Given the description of an element on the screen output the (x, y) to click on. 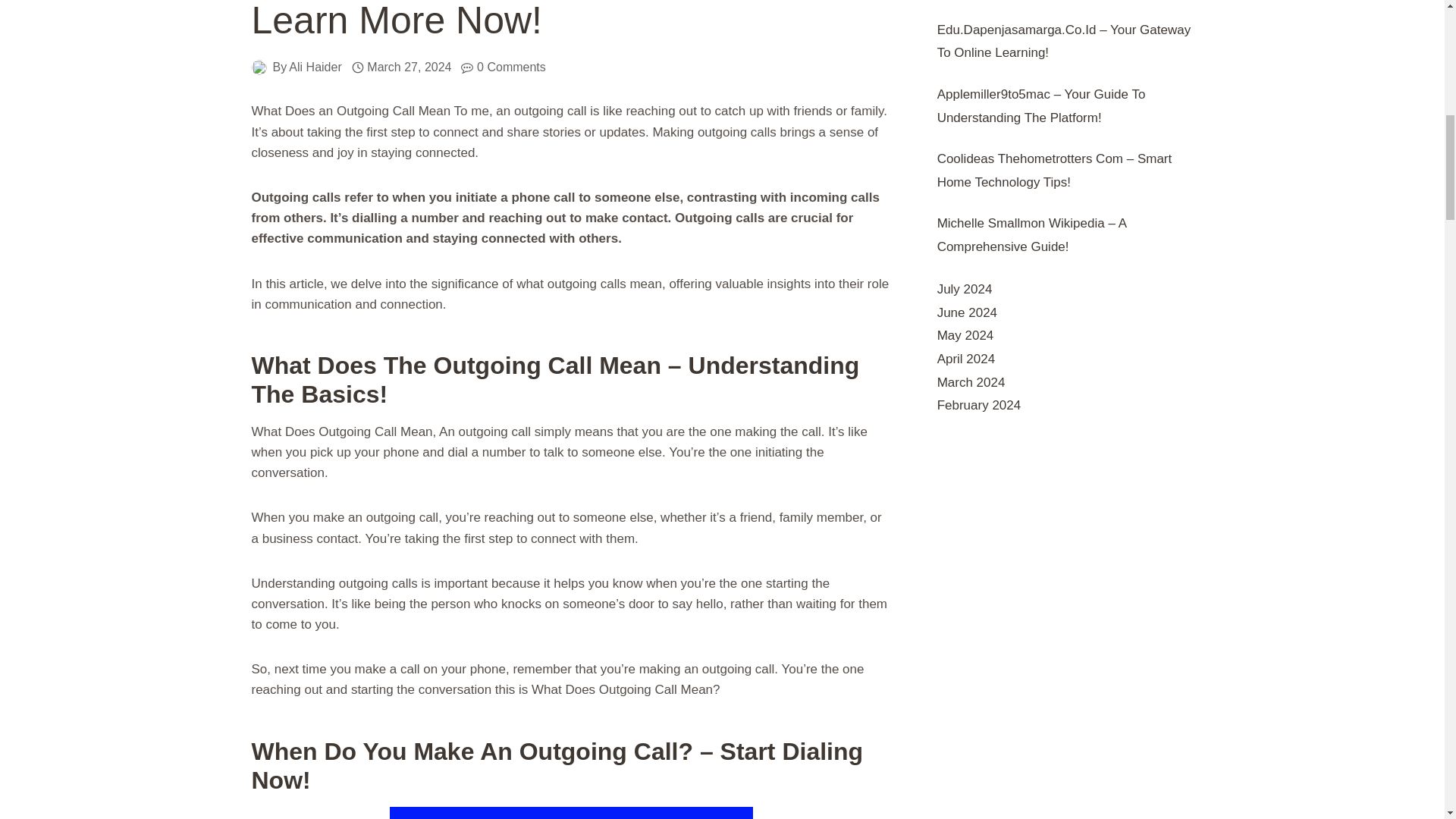
0 Comments (511, 66)
0 Comments (511, 66)
Ali Haider (314, 66)
